Given the description of an element on the screen output the (x, y) to click on. 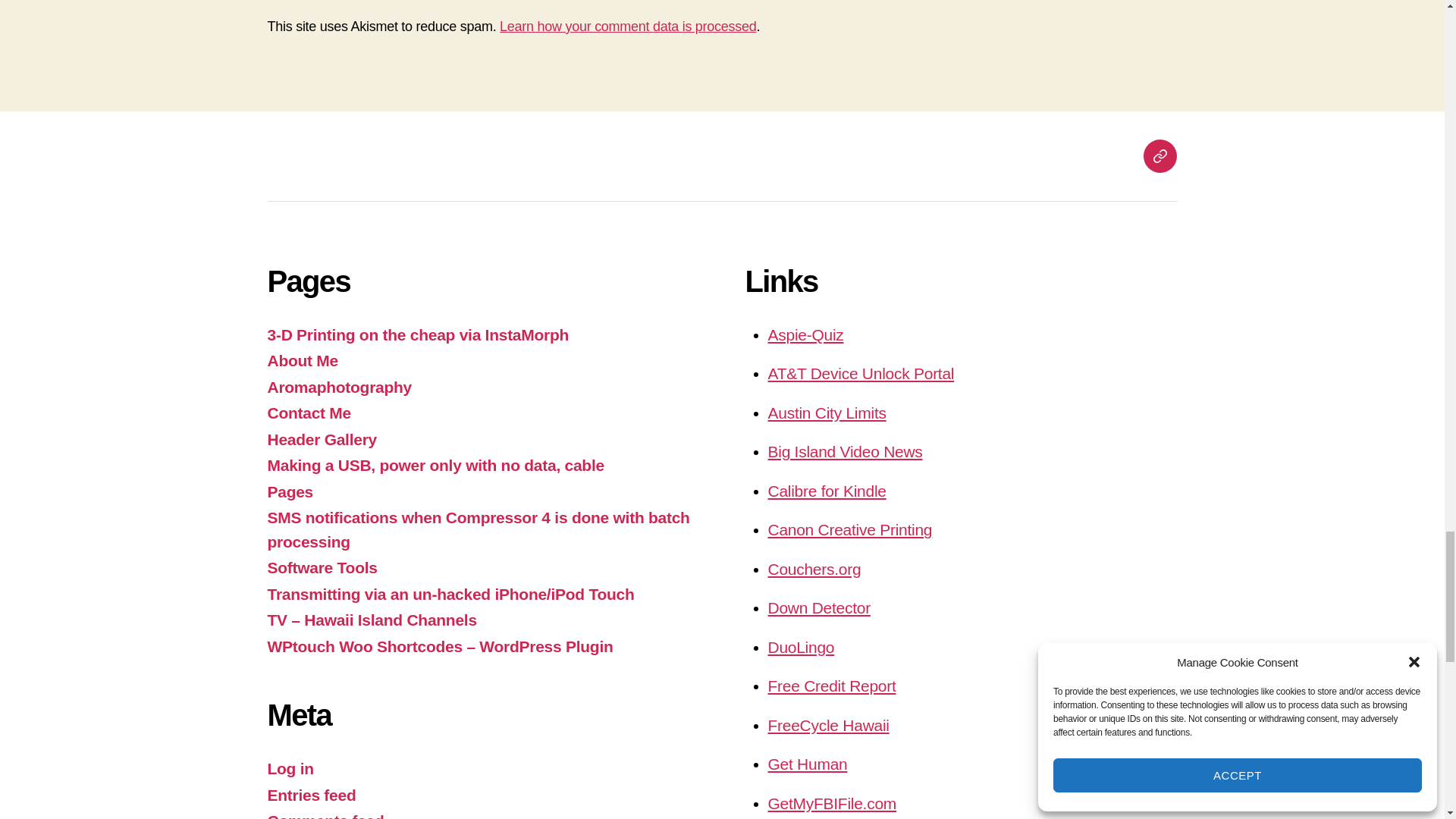
Pages (1159, 155)
